Given the description of an element on the screen output the (x, y) to click on. 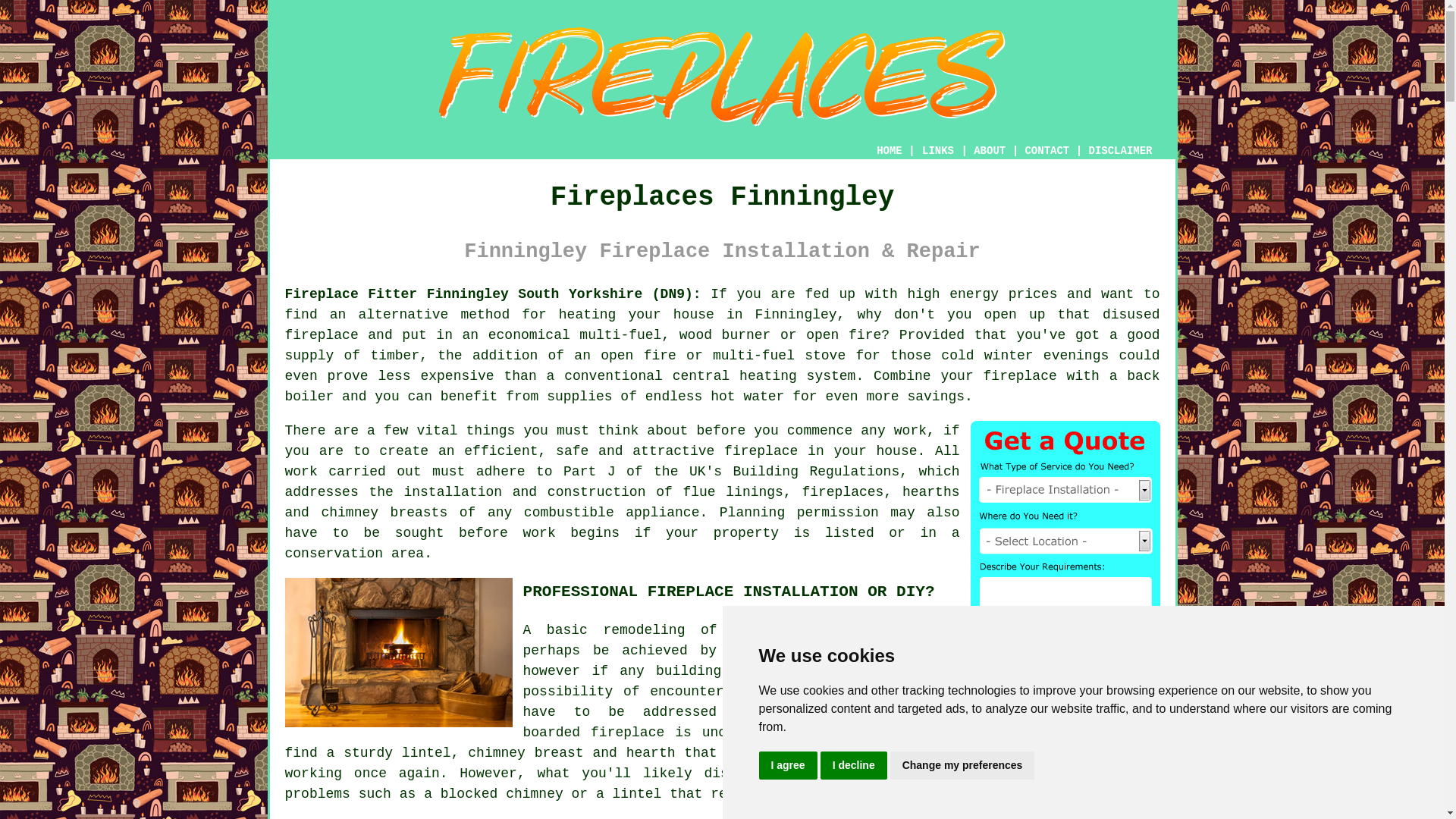
Change my preferences (962, 765)
LINKS (938, 151)
Finningley Fireplaces South Yorkshire (398, 652)
Fireplaces Finningley (721, 76)
I decline (853, 765)
I agree (787, 765)
fireplace (321, 335)
fireplaces (842, 491)
HOME (889, 150)
